Given the description of an element on the screen output the (x, y) to click on. 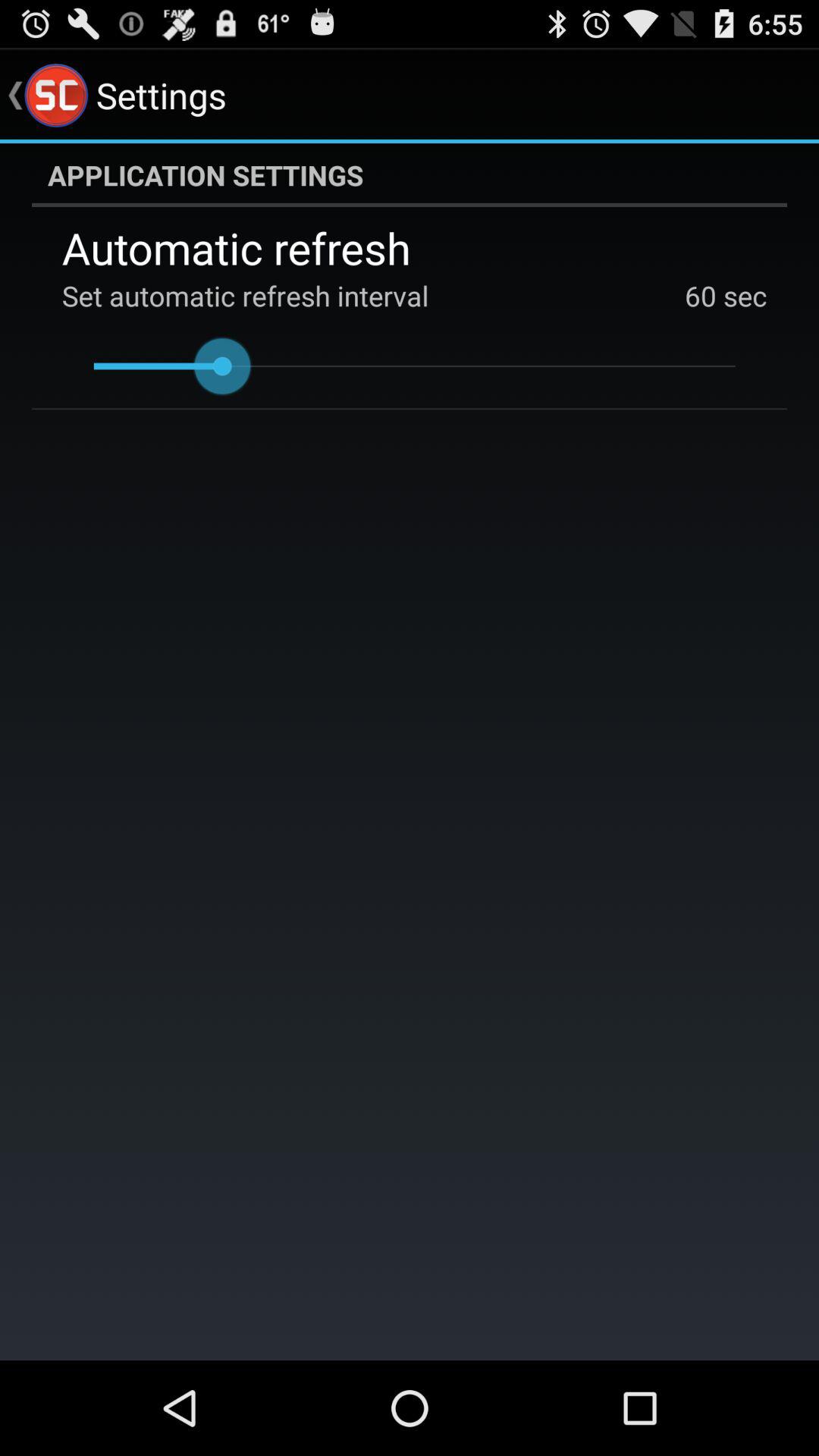
jump until 60 app (700, 295)
